Given the description of an element on the screen output the (x, y) to click on. 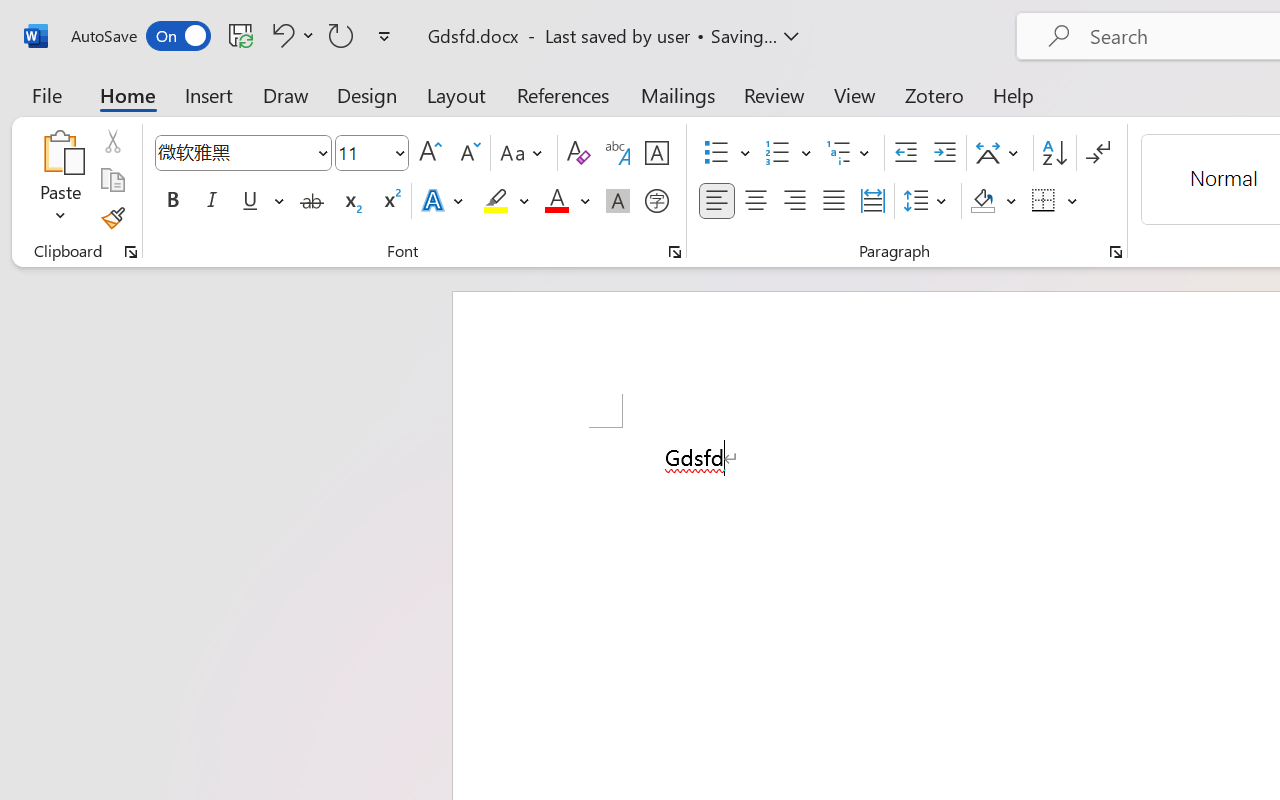
Repeat Style (341, 35)
